Given the description of an element on the screen output the (x, y) to click on. 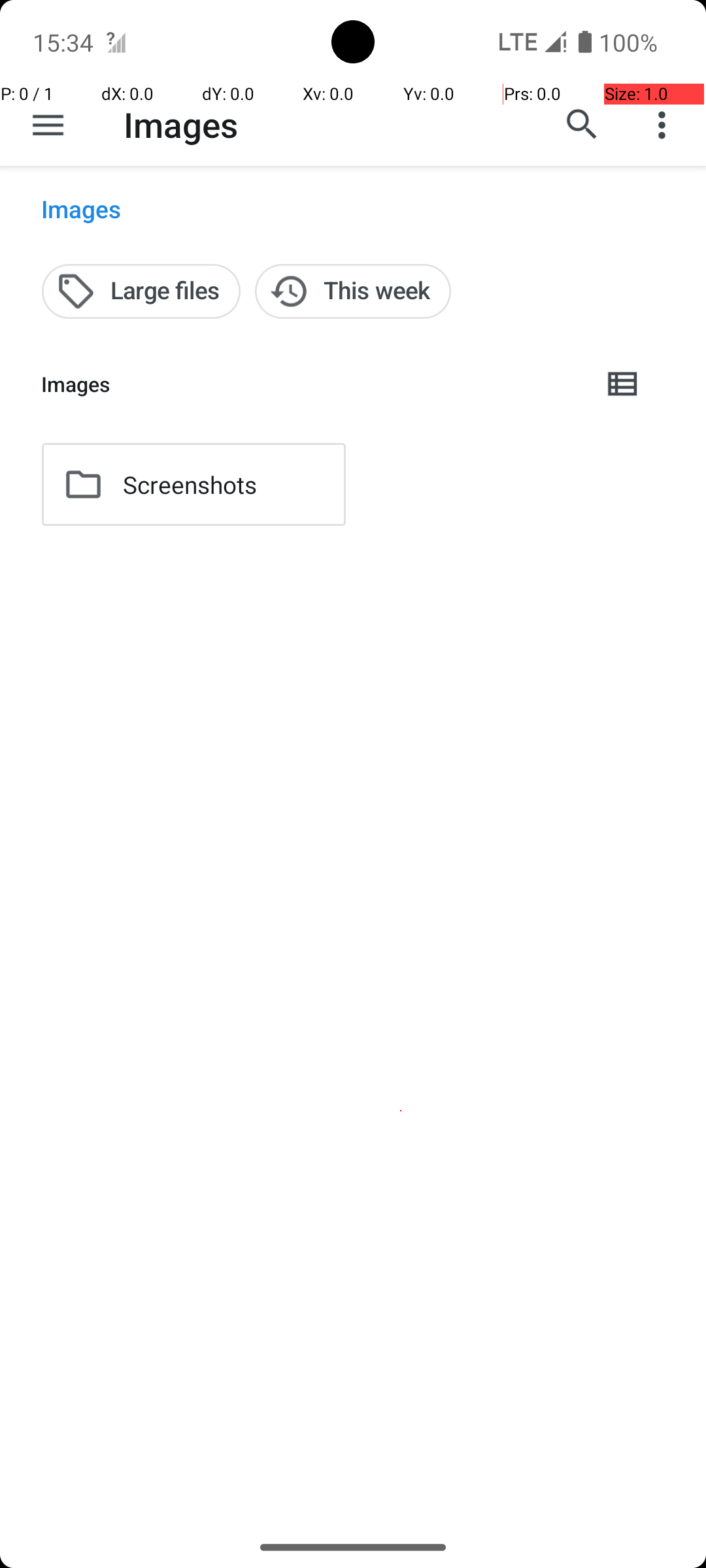
Screenshots Element type: android.widget.TextView (189, 484)
